Given the description of an element on the screen output the (x, y) to click on. 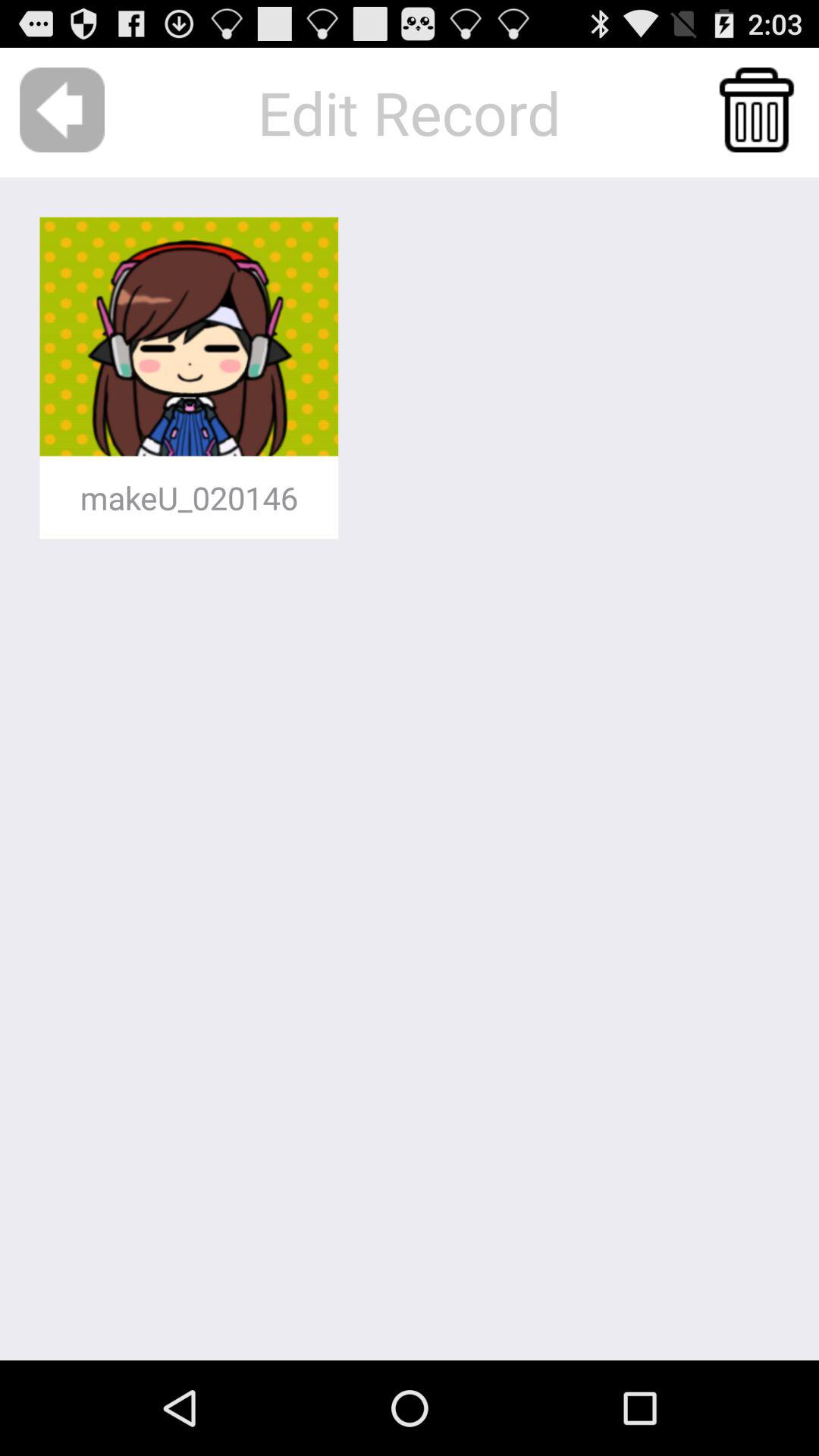
go back (61, 109)
